Given the description of an element on the screen output the (x, y) to click on. 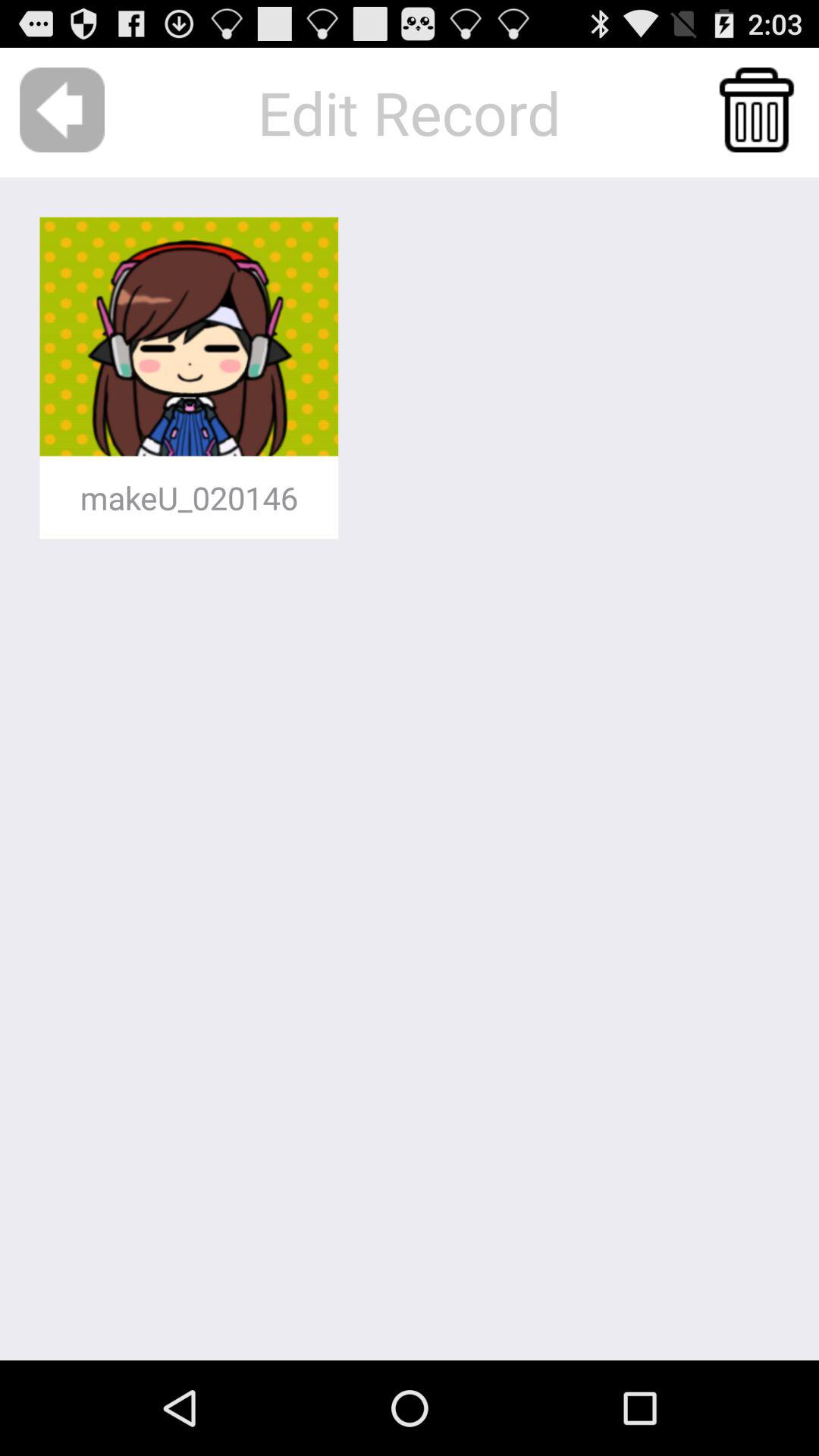
go back (61, 109)
